Given the description of an element on the screen output the (x, y) to click on. 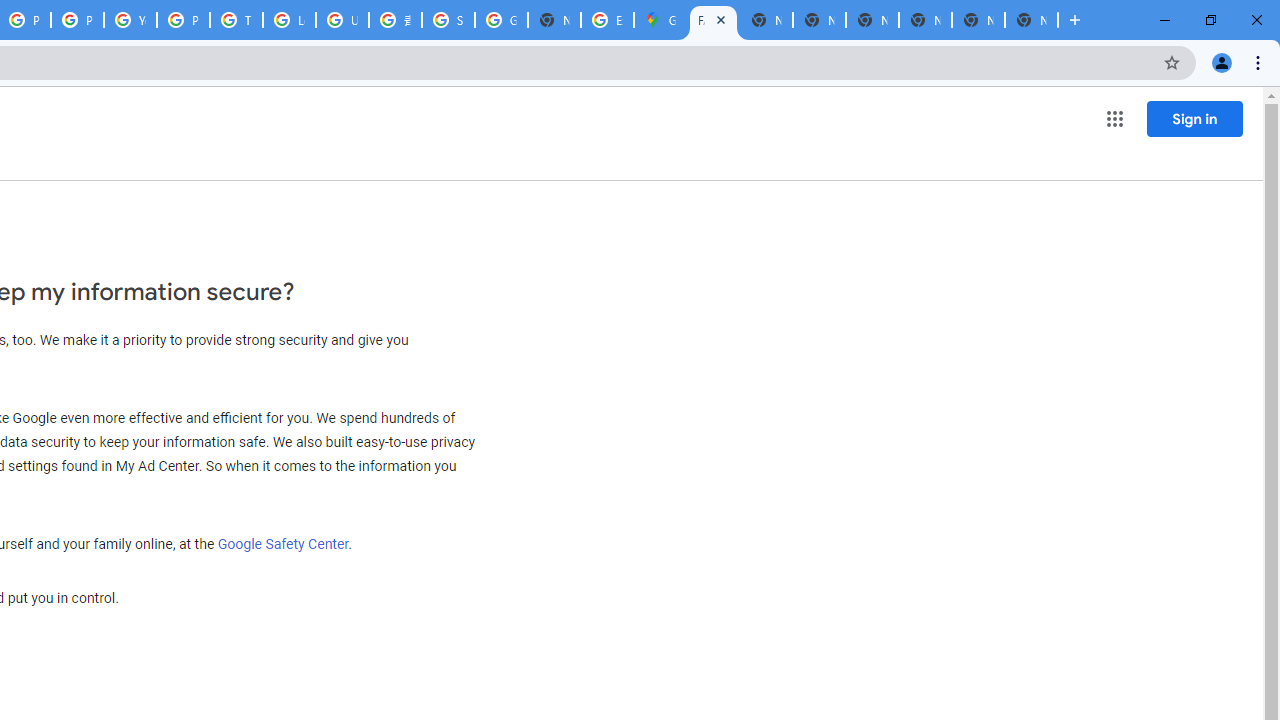
YouTube (130, 20)
